Given the description of an element on the screen output the (x, y) to click on. 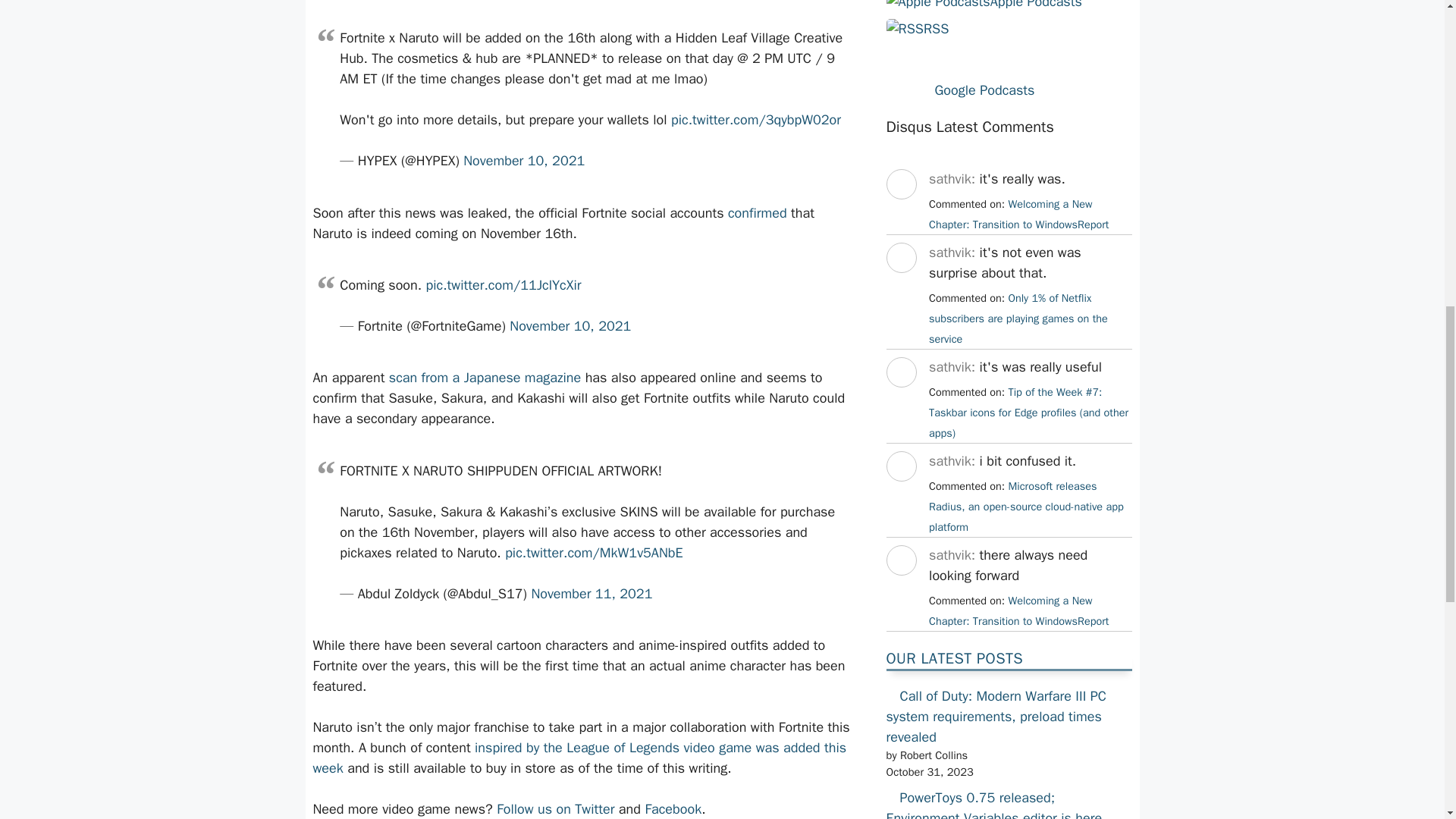
June 15, 2024 (1026, 506)
sathvik (900, 588)
July 8, 2024 (1028, 411)
sathvik (900, 494)
sathvik (900, 401)
sathvik (900, 212)
May 20, 2024 (1018, 610)
sathvik (900, 286)
July 24, 2024 (1018, 213)
July 11, 2024 (1018, 318)
